Given the description of an element on the screen output the (x, y) to click on. 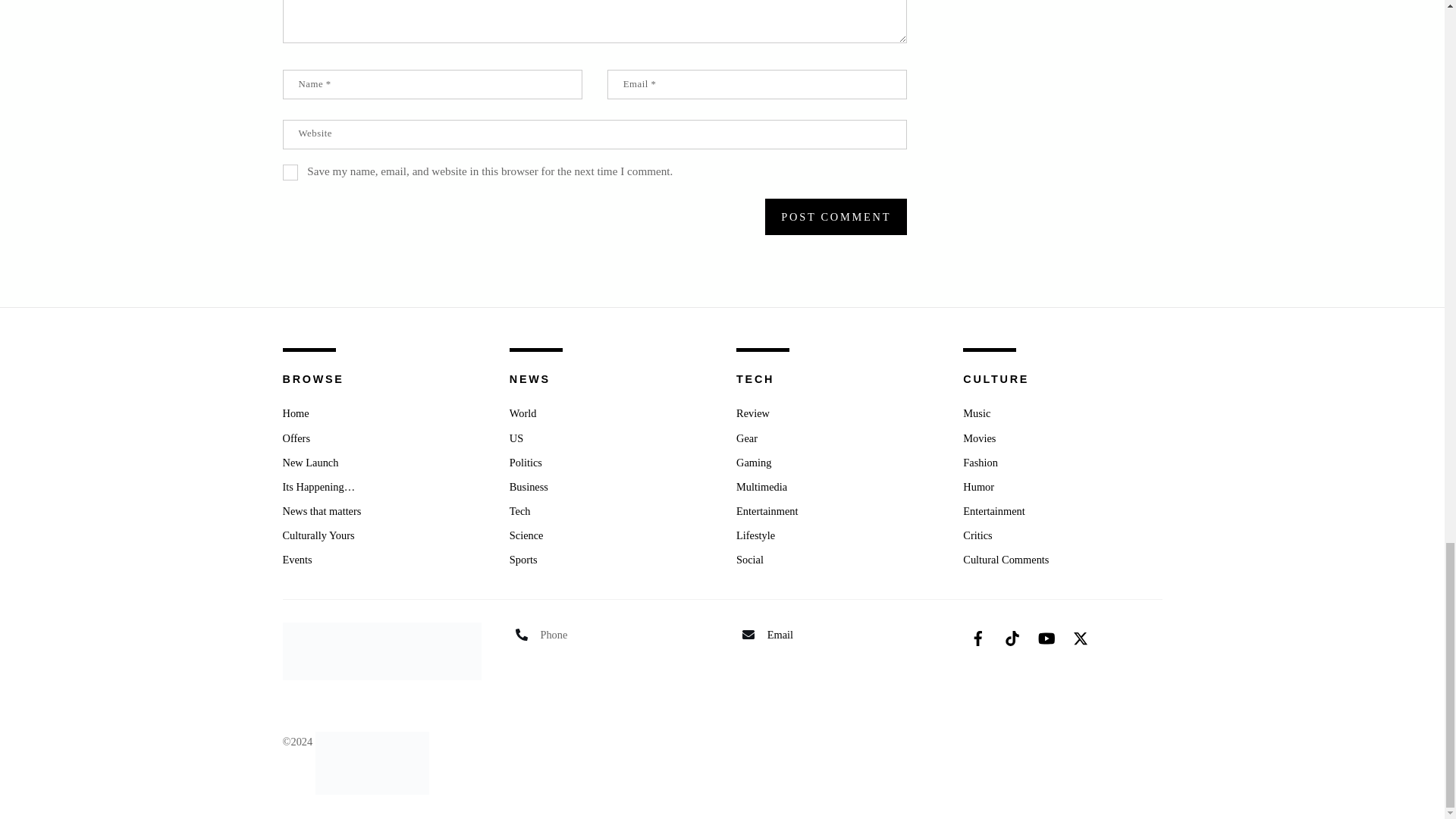
PlutonicTech (372, 741)
Plutonic Logo (372, 763)
logo (381, 651)
Post Comment (836, 217)
yes (290, 172)
Post Comment (836, 217)
